Given the description of an element on the screen output the (x, y) to click on. 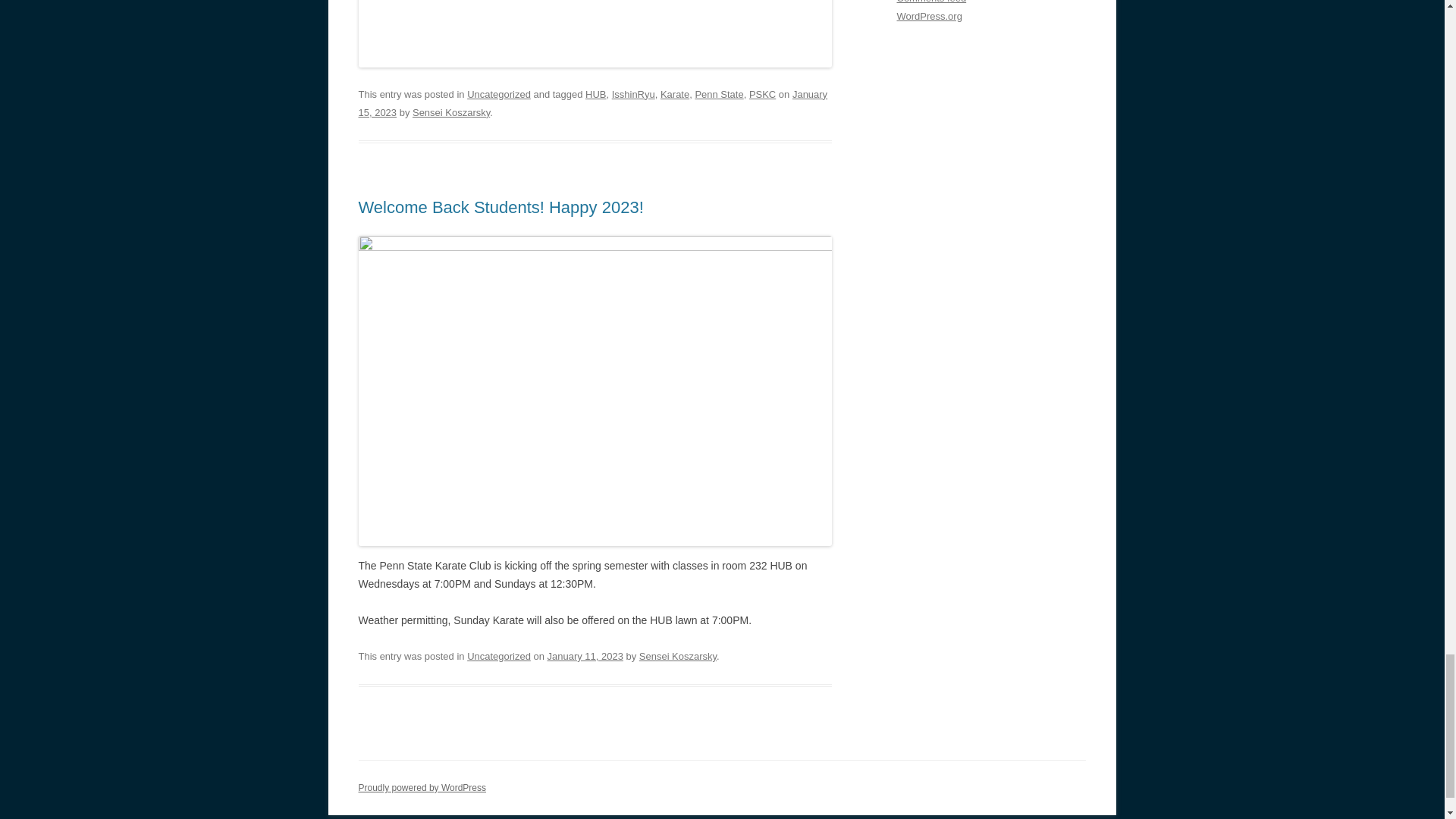
Semantic Personal Publishing Platform (422, 787)
12:56 am (592, 102)
View all posts by Sensei Koszarsky (677, 655)
1:14 am (585, 655)
View all posts by Sensei Koszarsky (450, 112)
